Given the description of an element on the screen output the (x, y) to click on. 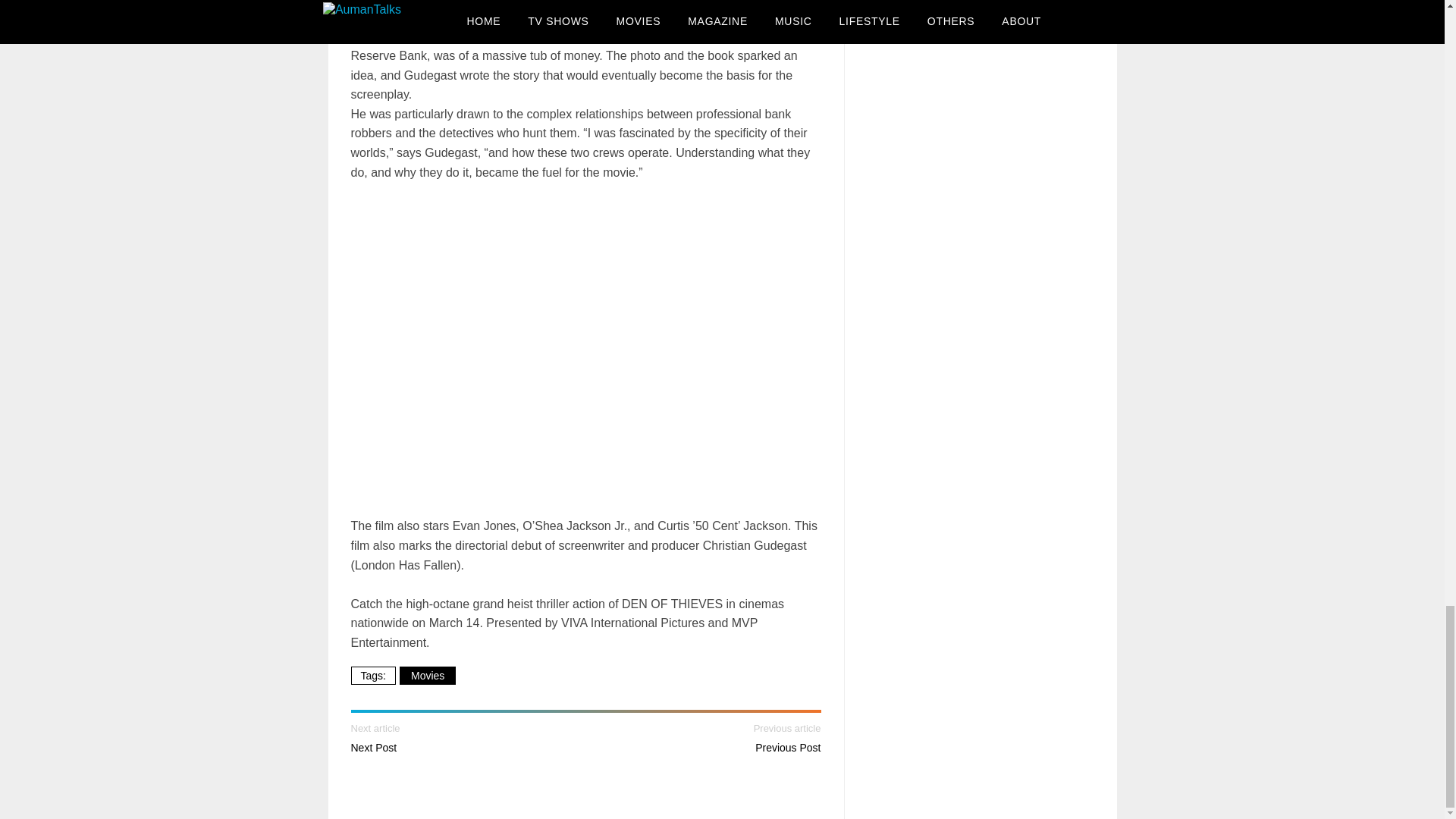
Previous Post (788, 747)
Older Post (788, 747)
Movies (426, 675)
Newer Post (373, 747)
Next Post (373, 747)
